Given the description of an element on the screen output the (x, y) to click on. 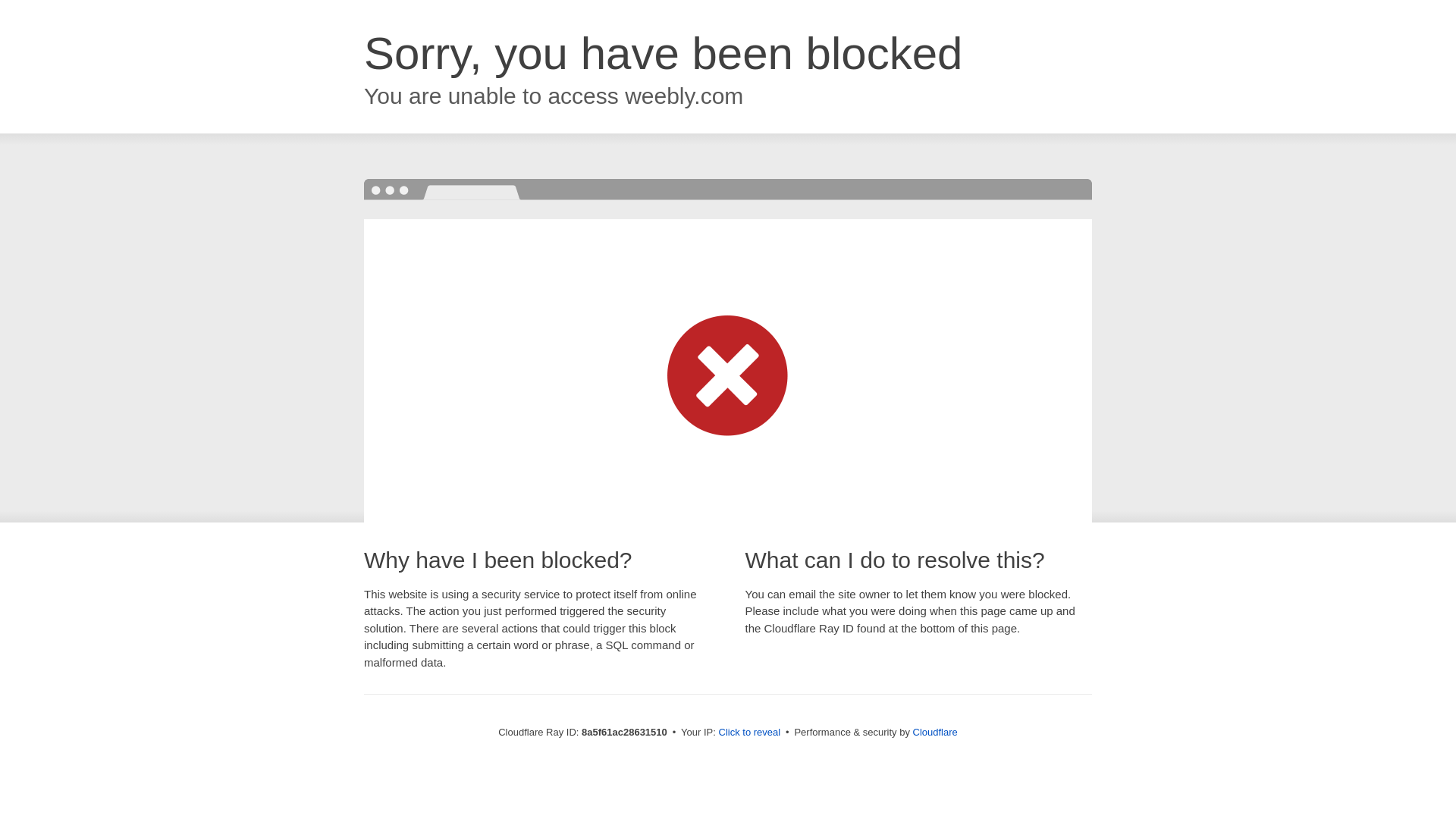
Cloudflare (935, 731)
Click to reveal (749, 732)
